Given the description of an element on the screen output the (x, y) to click on. 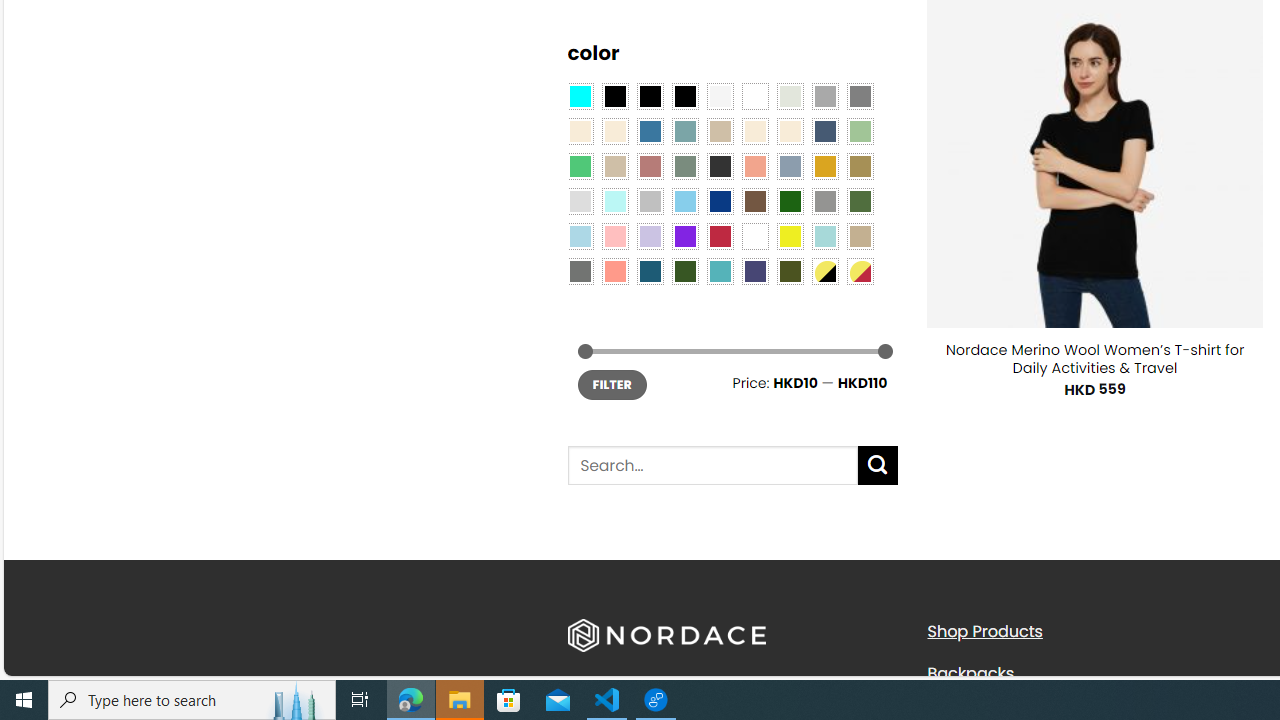
Forest (684, 270)
Search for: (712, 465)
Black-Brown (684, 95)
Dusty Blue (789, 165)
White (755, 236)
Silver (650, 200)
Backpacks (1092, 673)
Red (719, 236)
Dull Nickle (579, 270)
Yellow-Red (859, 270)
Black (650, 95)
Hale Navy (824, 131)
Cream (789, 131)
Mint (614, 200)
Dark Gray (824, 95)
